Given the description of an element on the screen output the (x, y) to click on. 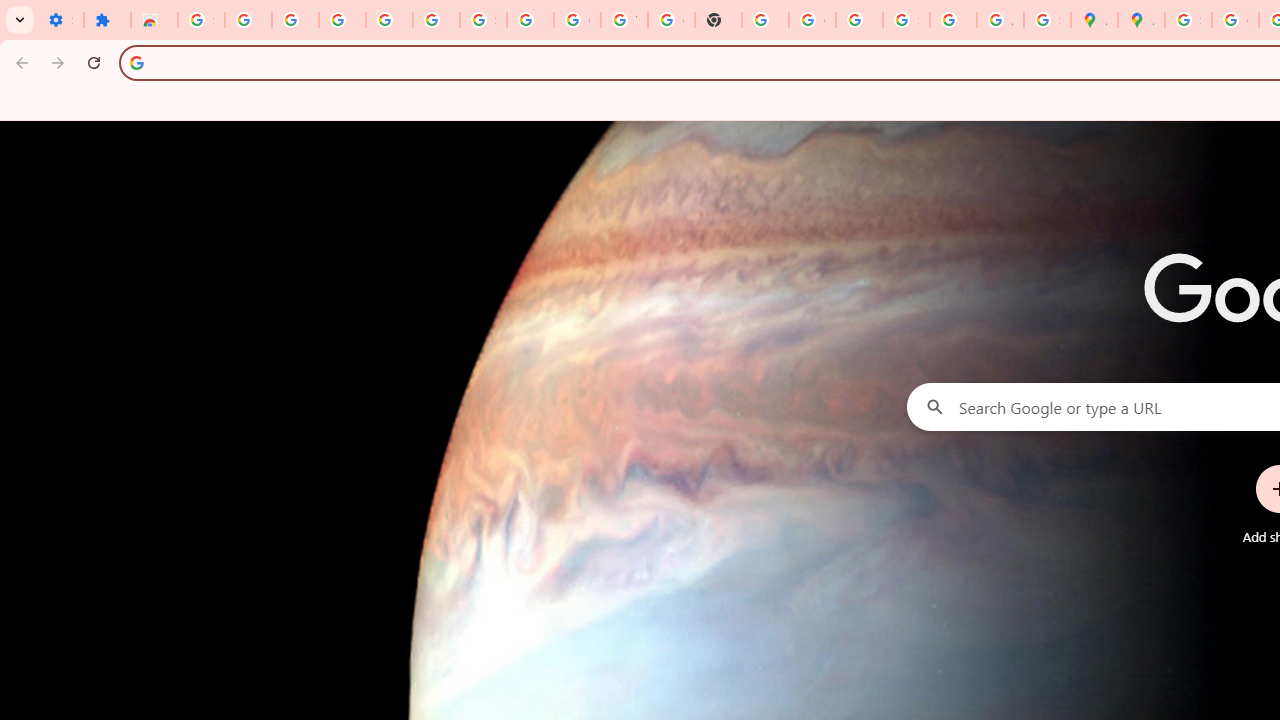
Settings - On startup (60, 20)
Google Account (577, 20)
Sign in - Google Accounts (482, 20)
Sign in - Google Accounts (906, 20)
Sign in - Google Accounts (1188, 20)
Extensions (107, 20)
